Given the description of an element on the screen output the (x, y) to click on. 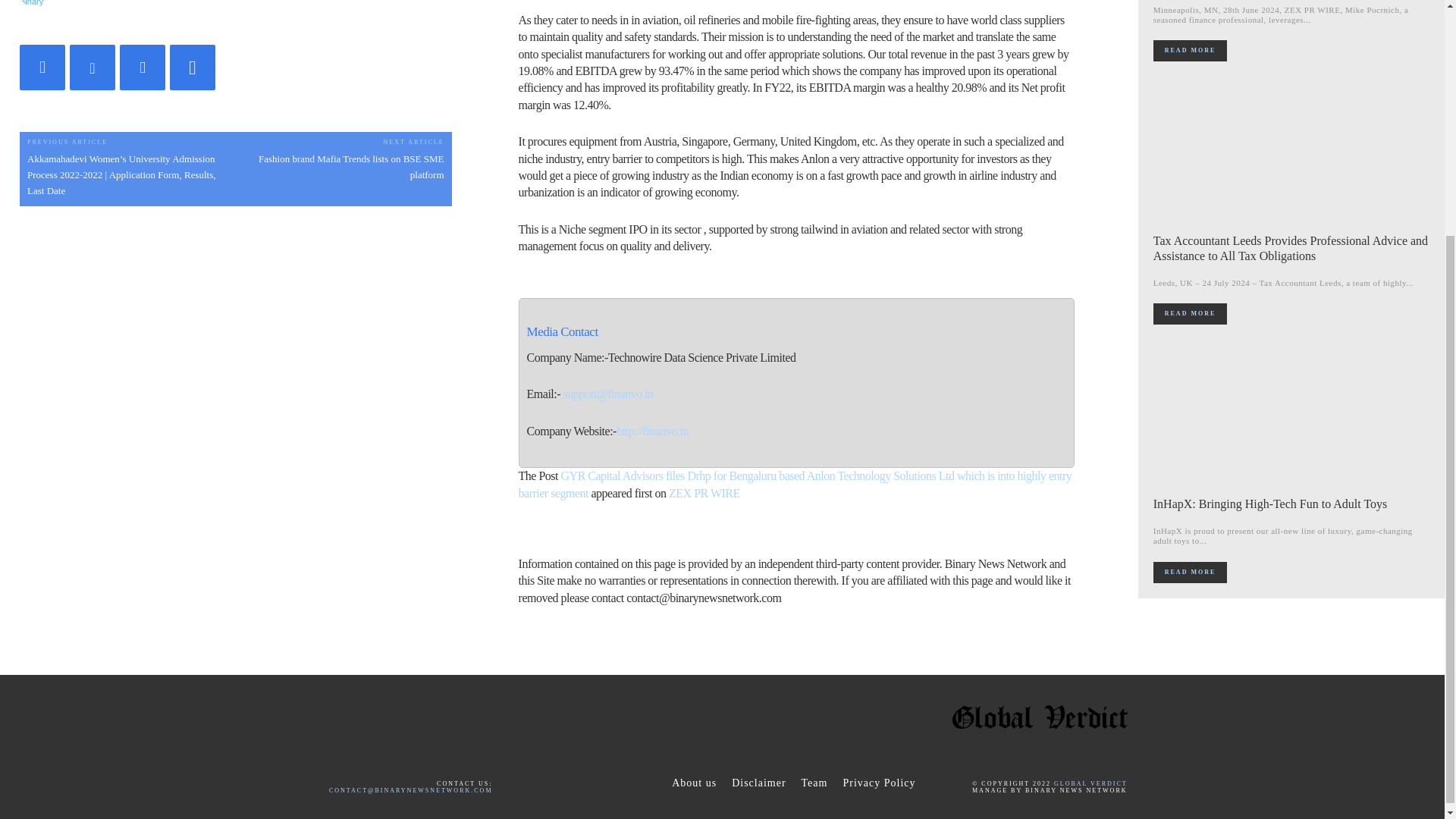
BINARY NEWS NETWORK (142, 2)
Disclaimer (759, 783)
Fashion brand Mafia Trends lists on BSE SME platform (351, 166)
Team (815, 783)
Read more (1190, 313)
Read more (1190, 50)
READ MORE (1190, 572)
WhatsApp (192, 67)
InHapX: Bringing High-Tech Fun to Adult Toys (1270, 503)
InHapX: Bringing High-Tech Fun to Adult Toys (1292, 416)
